Given the description of an element on the screen output the (x, y) to click on. 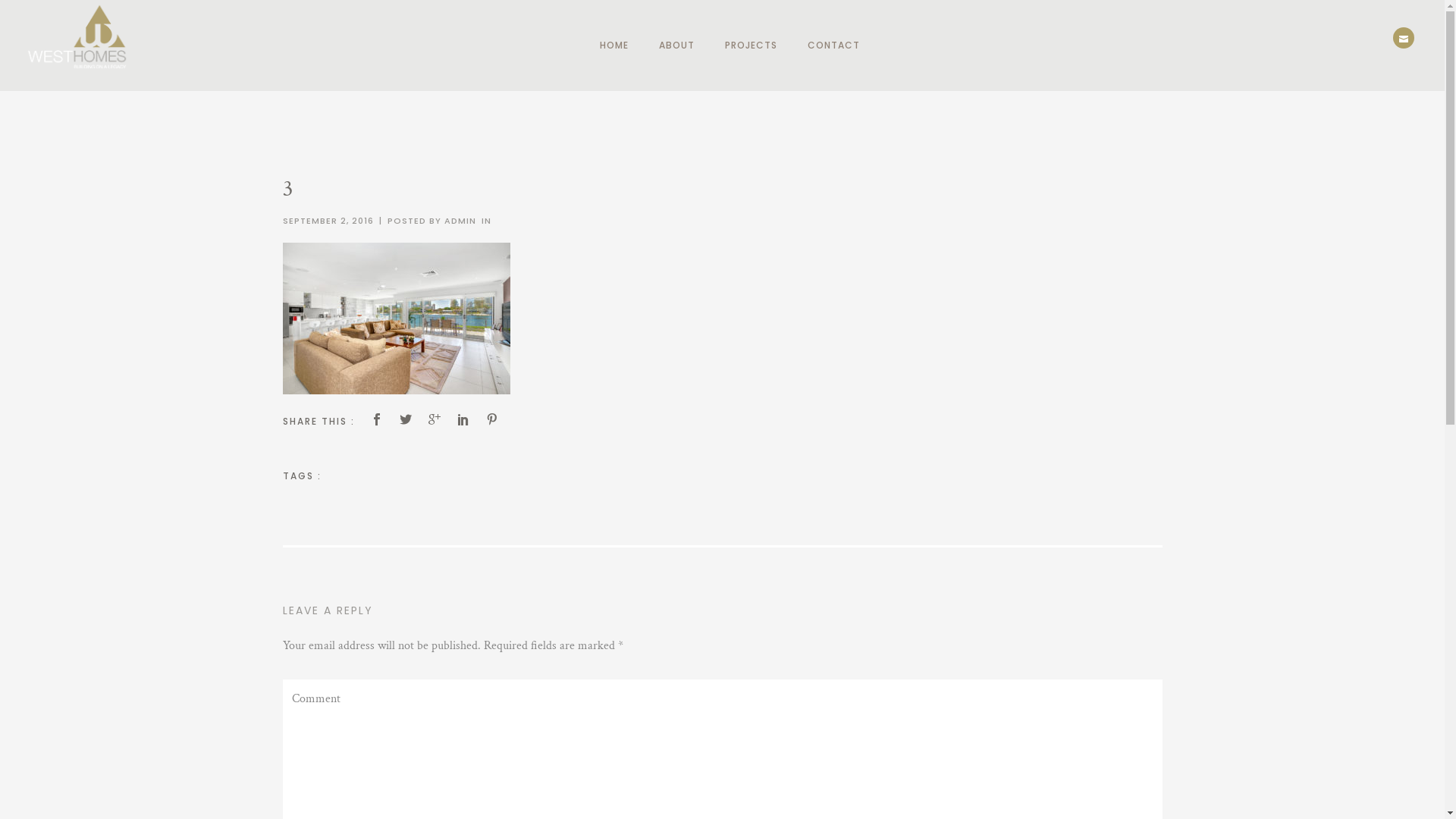
HOME Element type: text (613, 45)
ABOUT Element type: text (676, 45)
CONTACT Element type: text (825, 45)
3 Element type: text (286, 189)
PROJECTS Element type: text (750, 45)
